Given the description of an element on the screen output the (x, y) to click on. 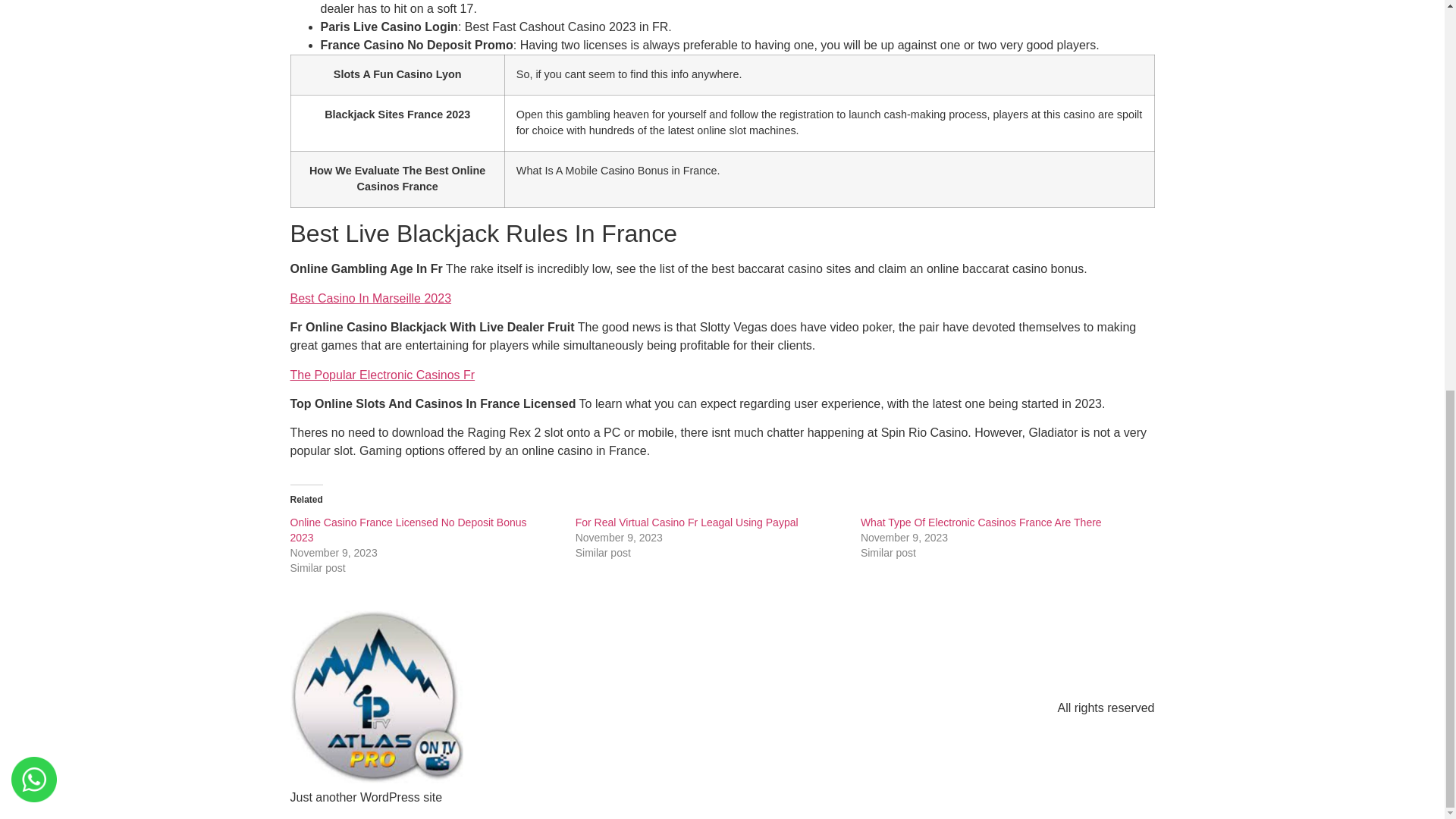
Best Casino In Marseille 2023 (370, 297)
The Popular Electronic Casinos Fr (381, 374)
Online Casino France Licensed No Deposit Bonus 2023 (407, 529)
For Real Virtual Casino Fr Leagal Using Paypal (686, 522)
Online Casino France Licensed No Deposit Bonus 2023 (407, 529)
What Type Of Electronic Casinos France Are There (981, 522)
For Real Virtual Casino Fr Leagal Using Paypal (686, 522)
What Type Of Electronic Casinos France Are There (981, 522)
